Given the description of an element on the screen output the (x, y) to click on. 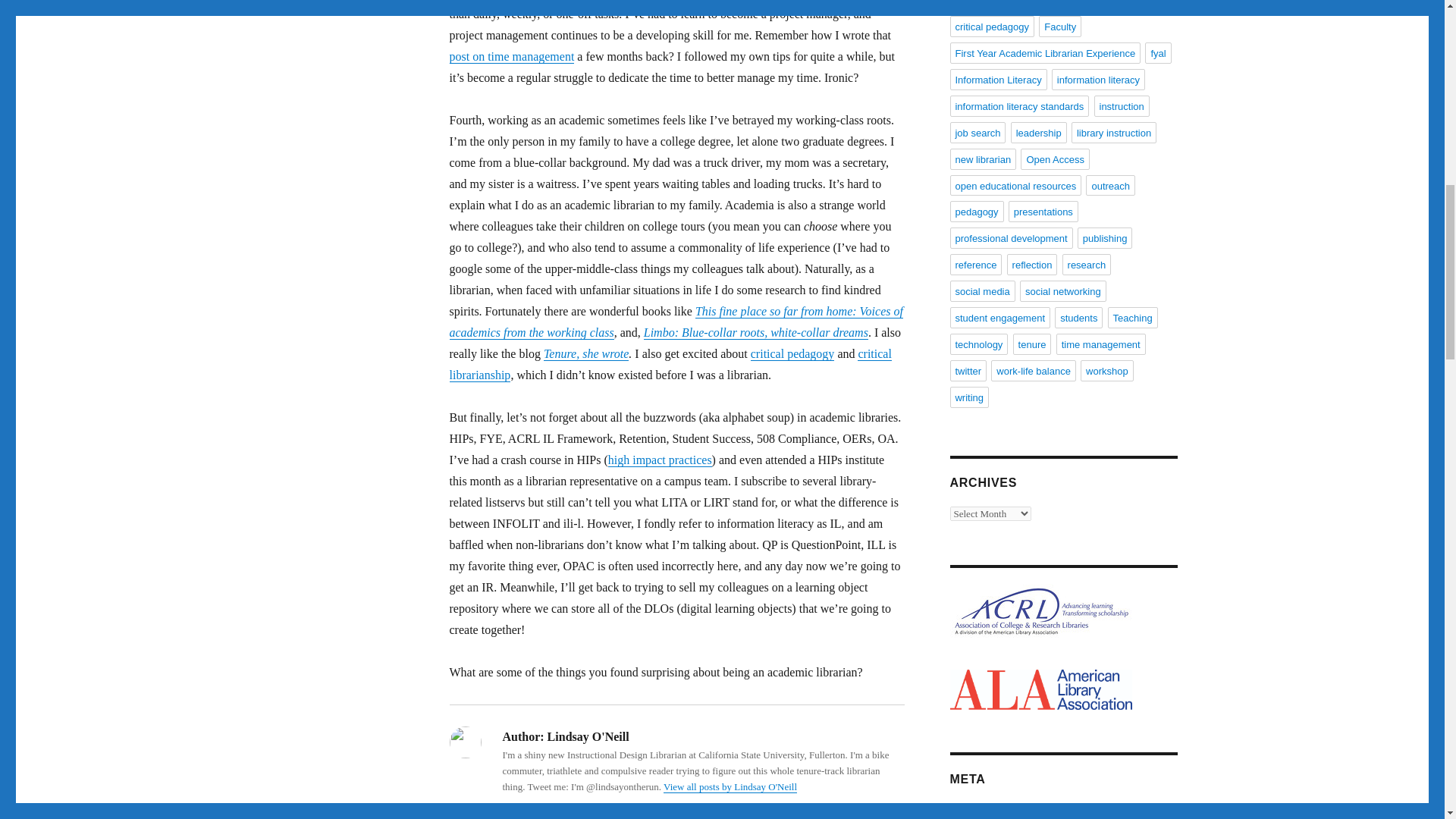
critical pedagogy (792, 353)
Tenure, she wrote (585, 353)
critical librarianship (669, 364)
high impact practices (659, 459)
post on time management (510, 56)
Limbo: Blue-collar roots, white-collar dreams (755, 332)
View all posts by Lindsay O'Neill (729, 786)
